Given the description of an element on the screen output the (x, y) to click on. 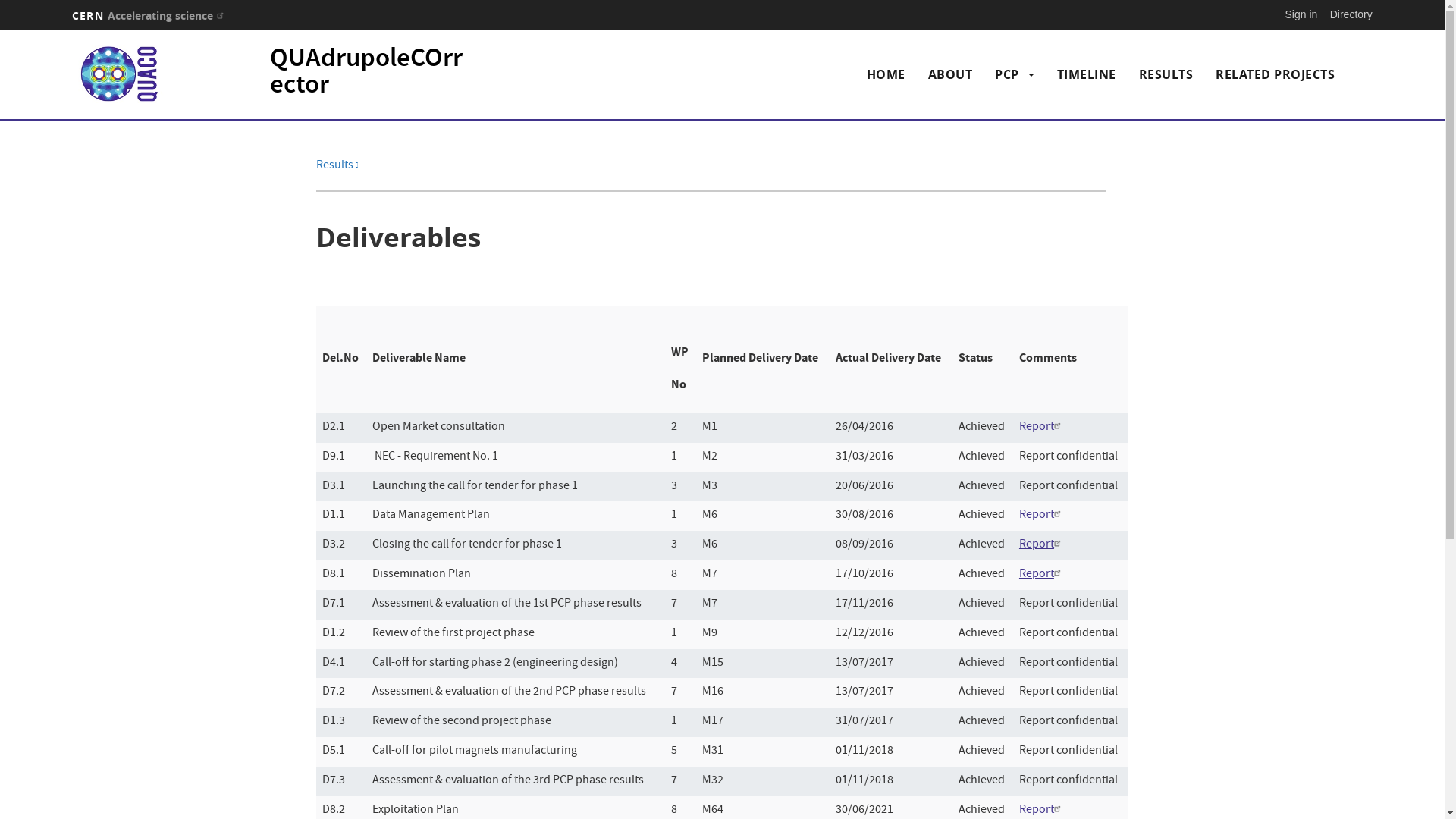
PCP Element type: text (1006, 74)
ABOUT Element type: text (950, 74)
RELATED PROJECTS Element type: text (1274, 74)
TIMELINE Element type: text (1086, 74)
HOME Element type: text (885, 74)
Report(link is external) Element type: text (1041, 574)
Report(link is external) Element type: text (1041, 427)
Skip to main content Element type: text (0, 30)
Home Element type: hover (123, 74)
Directory Element type: text (1351, 14)
CERN Accelerating science (link is external) Element type: text (149, 14)
Sign in Element type: text (1301, 14)
Report(link is external) Element type: text (1041, 515)
Report(link is external) Element type: text (1041, 545)
RESULTS Element type: text (1166, 74)
QUAdrupoleCOrrector Element type: text (365, 72)
